Given the description of an element on the screen output the (x, y) to click on. 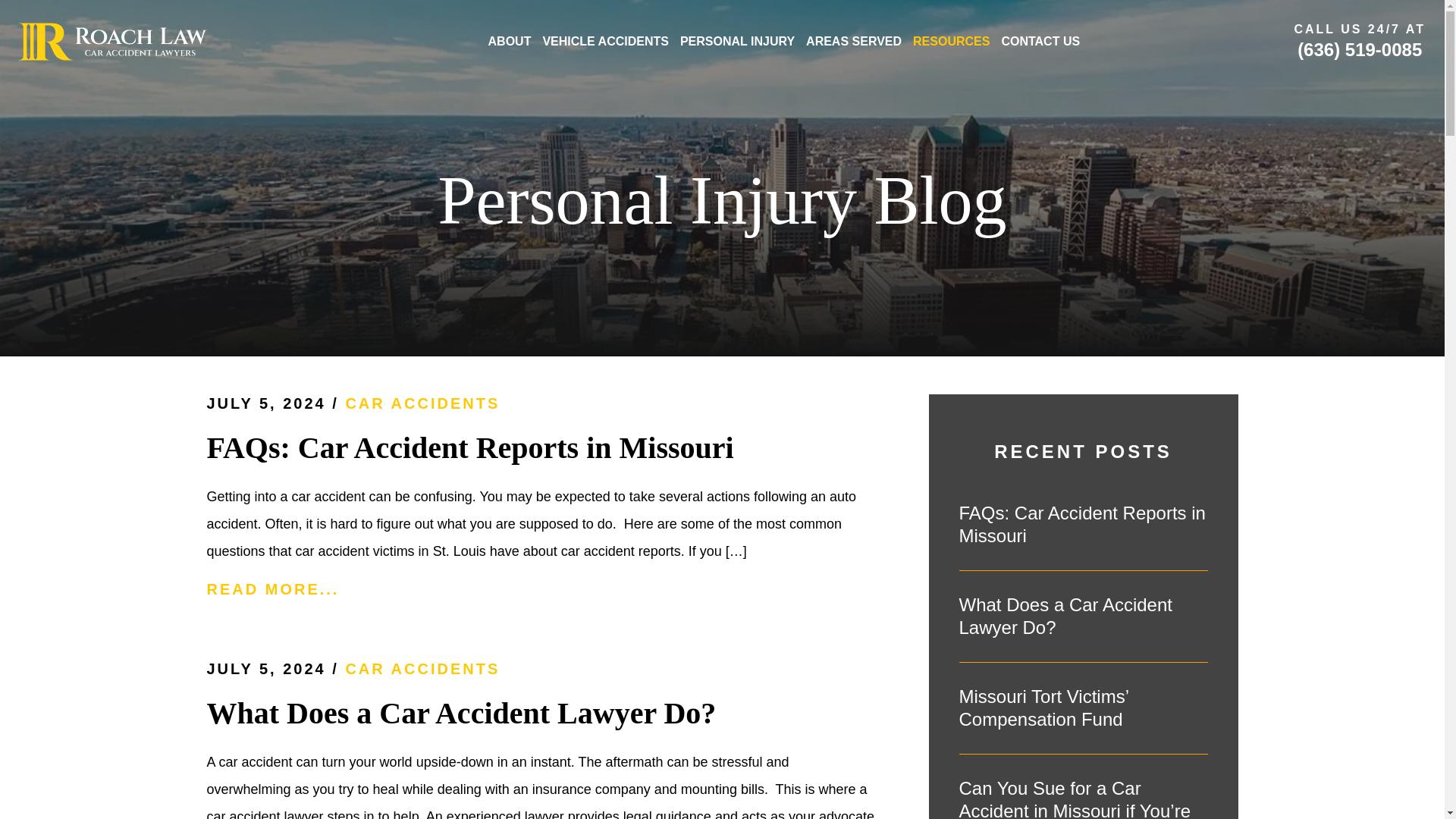
CAR ACCIDENTS (422, 668)
FAQs: Car Accident Reports in Missouri (1082, 524)
PERSONAL INJURY (736, 41)
CAR ACCIDENTS (422, 402)
What Does a Car Accident Lawyer Do? (1082, 616)
RESOURCES (951, 41)
CONTACT US (1040, 41)
VEHICLE ACCIDENTS (604, 41)
ABOUT (509, 41)
READ MORE... (541, 588)
